Given the description of an element on the screen output the (x, y) to click on. 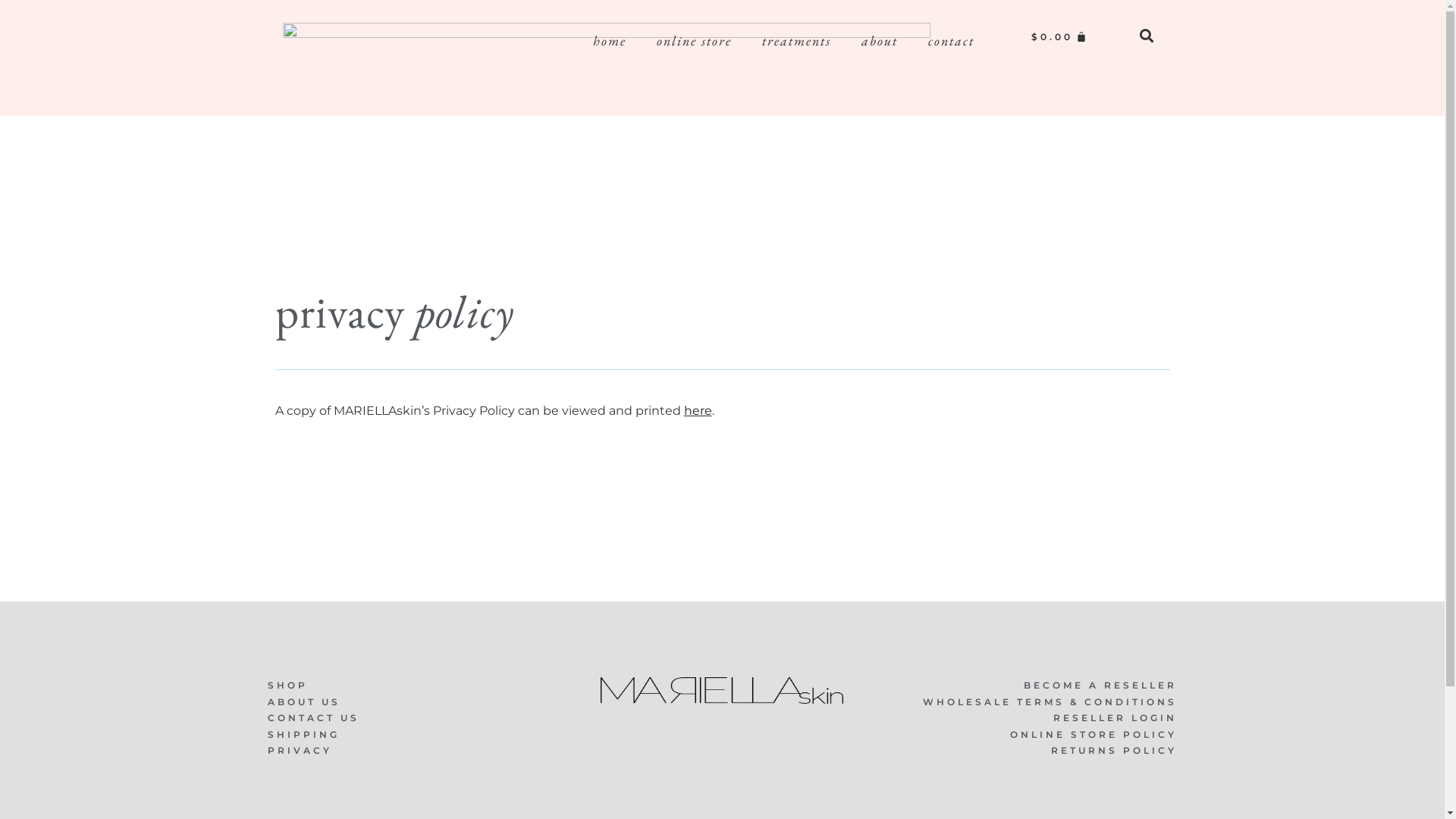
ONLINE STORE POLICY Element type: text (1024, 734)
PRIVACY Element type: text (418, 750)
treatments Element type: text (796, 40)
here Element type: text (698, 410)
ABOUT US Element type: text (418, 701)
home Element type: text (609, 40)
BECOME A RESELLER Element type: text (1024, 685)
CONTACT US Element type: text (418, 717)
contact Element type: text (951, 40)
WHOLESALE TERMS & CONDITIONS Element type: text (1024, 701)
online store Element type: text (693, 40)
about Element type: text (879, 40)
$0.00 Element type: text (1060, 36)
SHOP Element type: text (418, 685)
SHIPPING Element type: text (418, 734)
RETURNS POLICY Element type: text (1024, 750)
RESELLER LOGIN Element type: text (1024, 717)
